Given the description of an element on the screen output the (x, y) to click on. 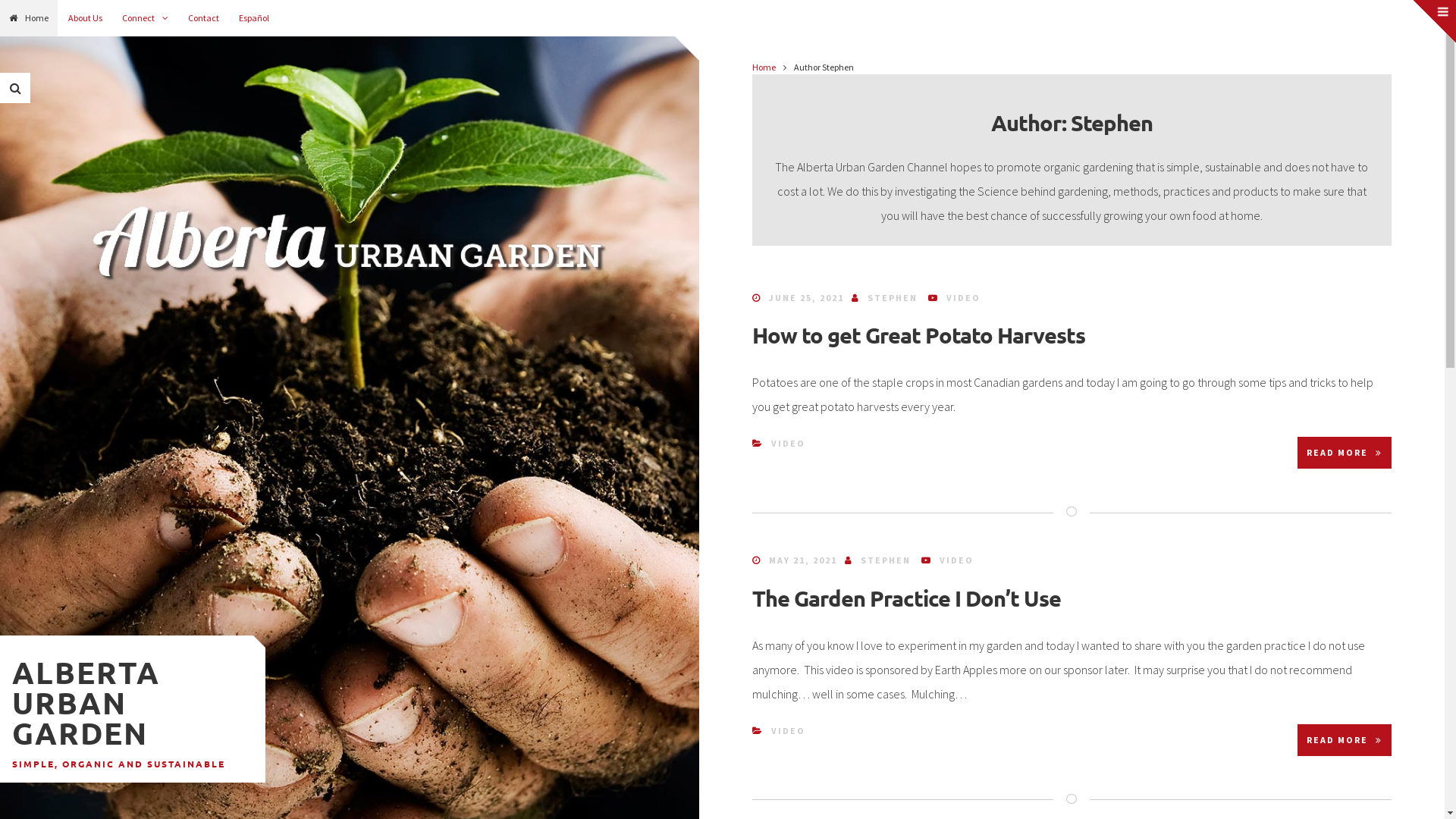
Home Element type: text (763, 66)
VIDEO Element type: text (963, 297)
STEPHEN Element type: text (892, 297)
READ MORE Element type: text (1344, 739)
VIDEO Element type: text (956, 559)
How to get Great Potato Harvests Element type: text (918, 334)
READ MORE Element type: text (1344, 452)
Contact Element type: text (203, 18)
JUNE 25, 2021 Element type: text (806, 297)
About Us Element type: text (85, 18)
VIDEO Element type: text (788, 730)
Connect Element type: text (144, 18)
STEPHEN Element type: text (885, 559)
MAY 21, 2021 Element type: text (802, 559)
VIDEO Element type: text (788, 442)
Home Element type: text (28, 18)
ALBERTA URBAN GARDEN Element type: text (86, 702)
